Given the description of an element on the screen output the (x, y) to click on. 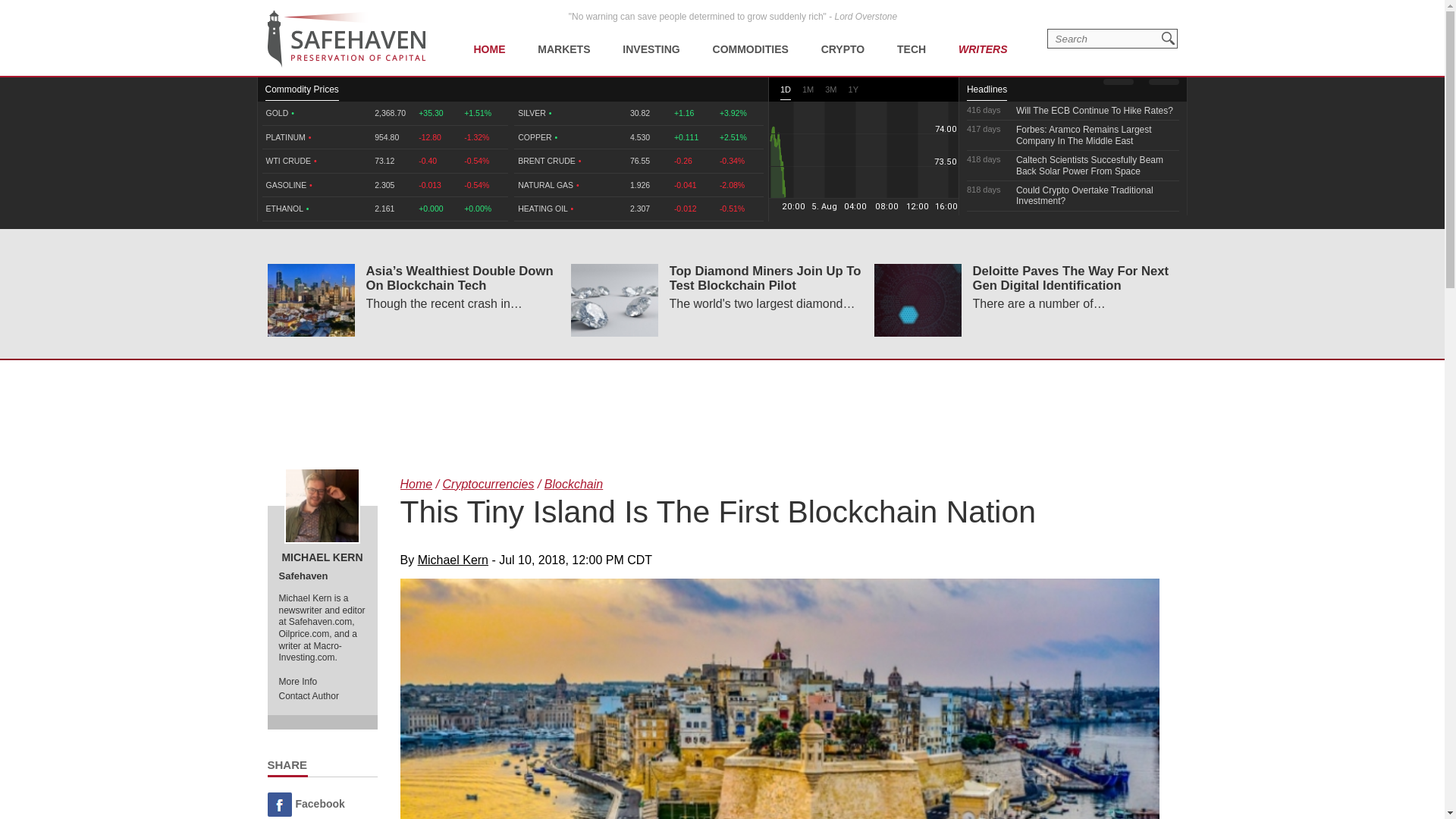
Deloitte Paves The Way For Next Gen Digital Identification (916, 299)
MARKETS (563, 38)
1M (807, 92)
Top Diamond Miners Join Up To Test Blockchain Pilot (614, 299)
1Y (853, 92)
COMMODITIES (750, 38)
INVESTING (650, 38)
Commodity Prices (301, 92)
TECH (911, 38)
Headlines (986, 92)
CRYPTO (842, 38)
1D (785, 92)
Oil prices - Oilprice.com (345, 38)
Michael Kern (321, 505)
